Given the description of an element on the screen output the (x, y) to click on. 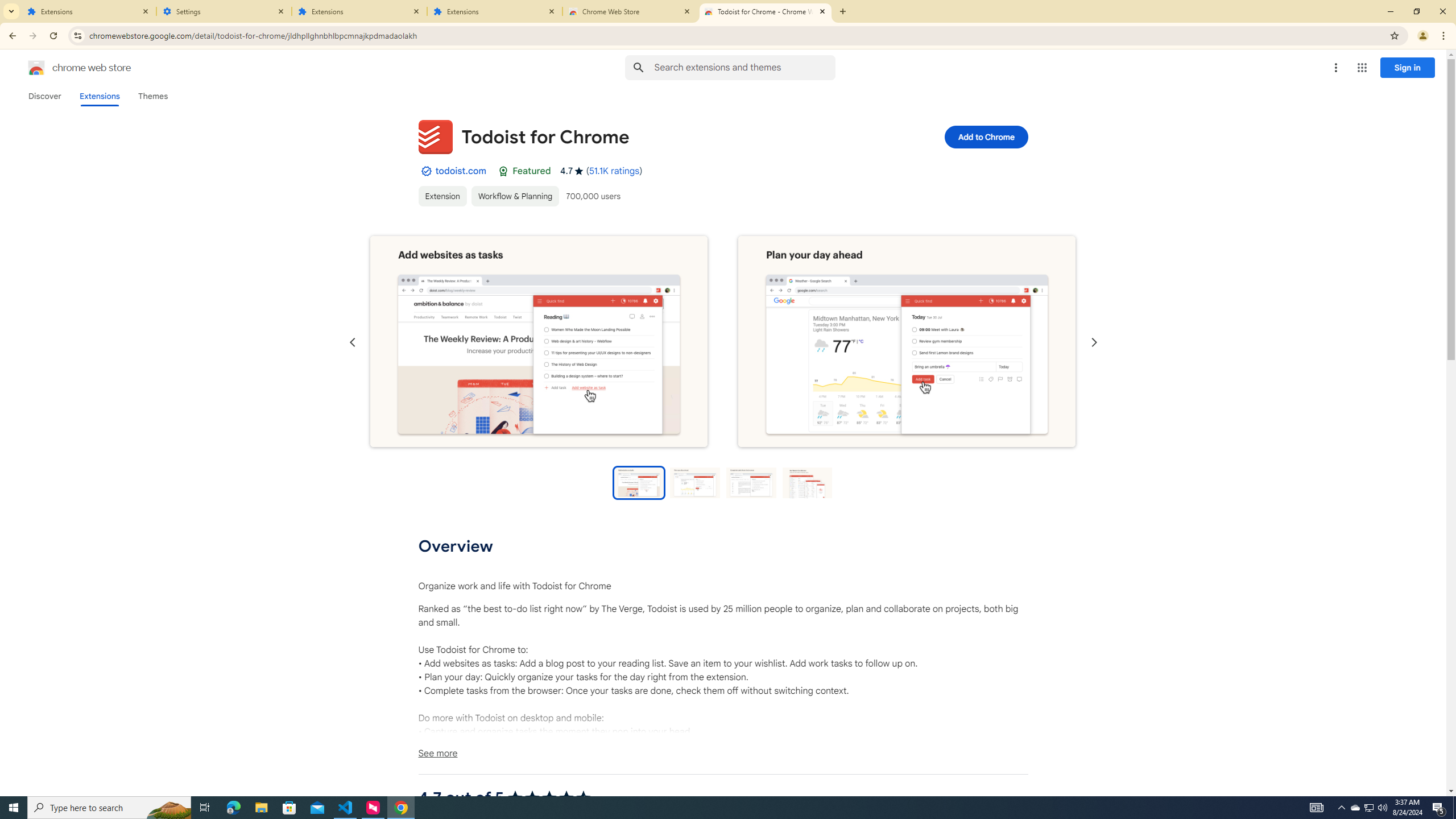
Preview slide 4 (807, 482)
Chrome Web Store (630, 11)
Settings (224, 11)
Item media 1 screenshot (538, 342)
More options menu (1335, 67)
Extensions (359, 11)
Extension (442, 195)
Themes (152, 95)
By Established Publisher Badge (425, 170)
4.7 out of 5 stars (549, 797)
